Given the description of an element on the screen output the (x, y) to click on. 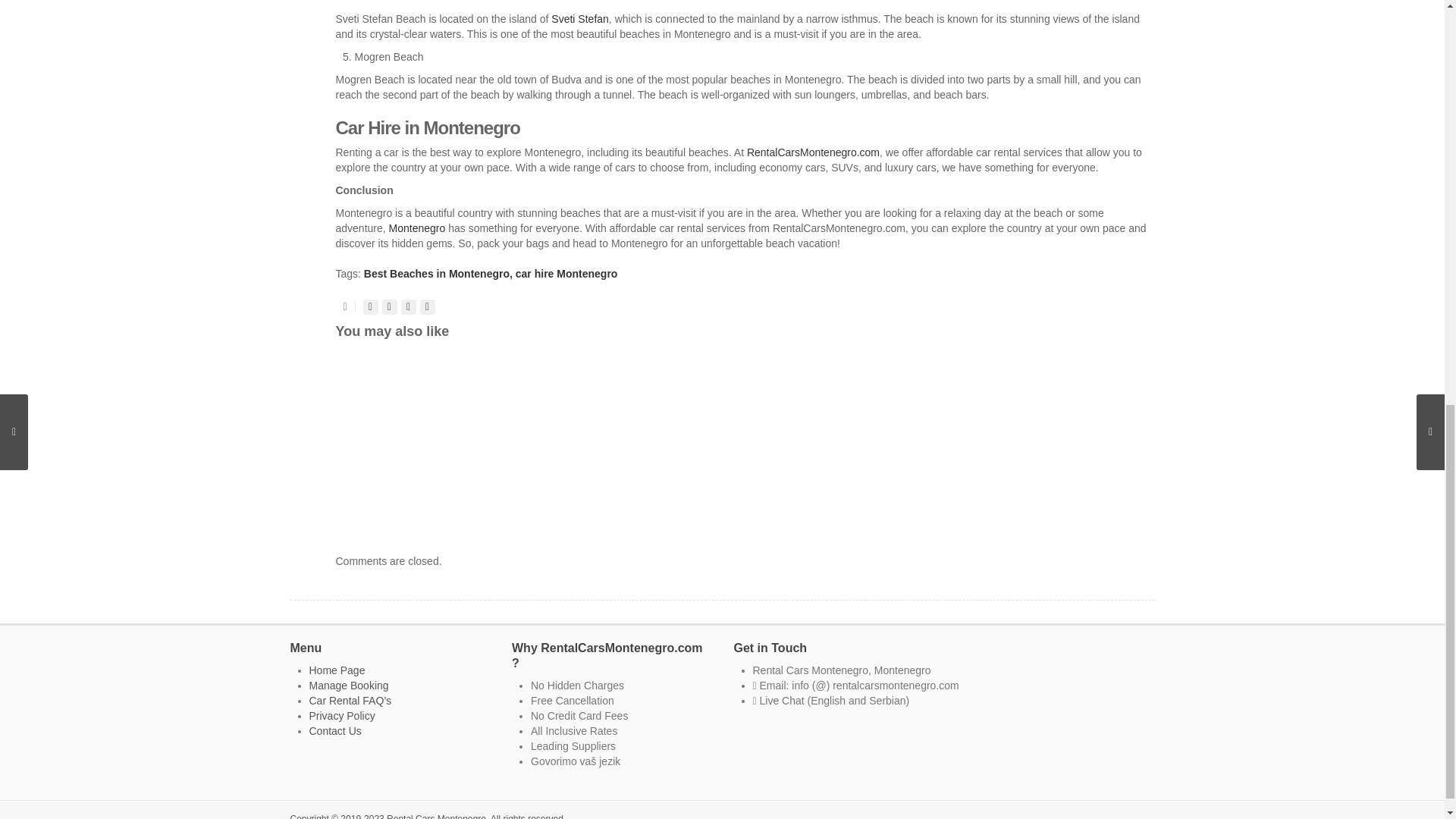
Twitter (370, 306)
Montenegro (416, 227)
car hire Montenegro (566, 273)
RentalCarsMontenegro.com (812, 152)
Facebook (389, 306)
Best Beaches in Montenegro (436, 273)
Sveti Stefan (579, 19)
